Given the description of an element on the screen output the (x, y) to click on. 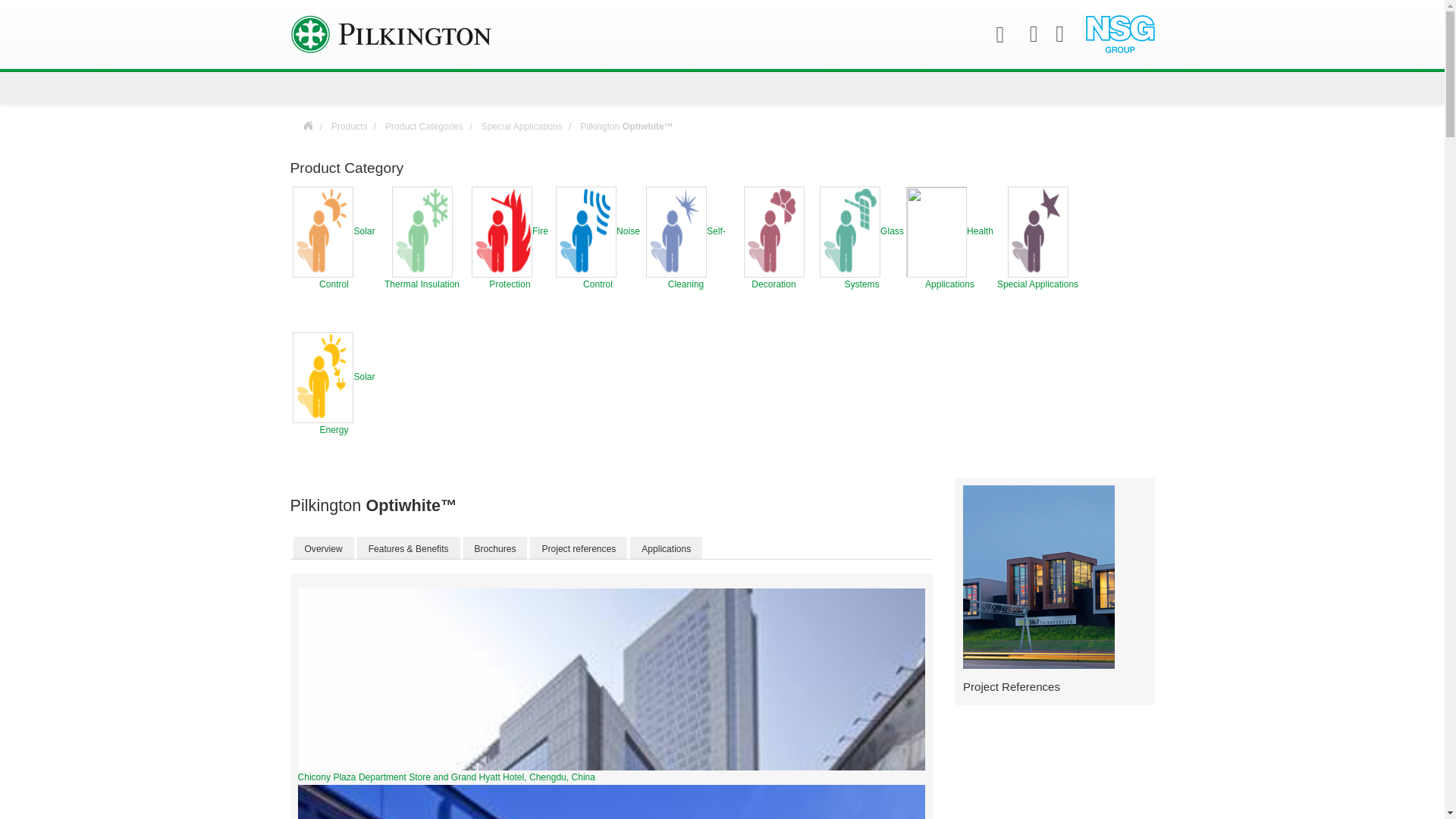
submit (18, 18)
